Given the description of an element on the screen output the (x, y) to click on. 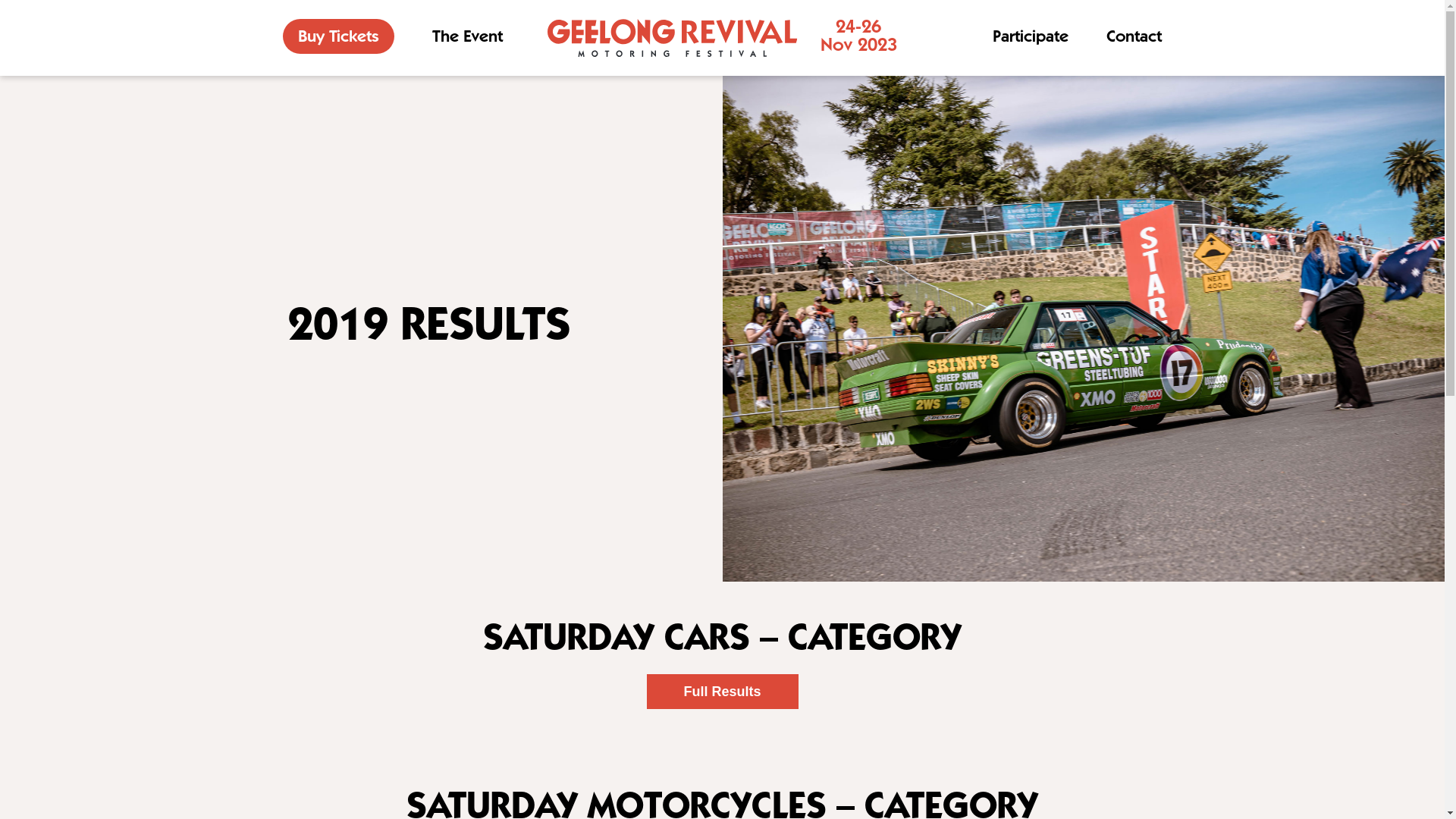
Buy Tickets Element type: text (337, 35)
Full Results Element type: text (721, 691)
Participate Element type: text (1030, 36)
Contact Element type: text (1133, 36)
Geelong Revival Motoring Festival Element type: text (672, 37)
The Event Element type: text (467, 36)
